Given the description of an element on the screen output the (x, y) to click on. 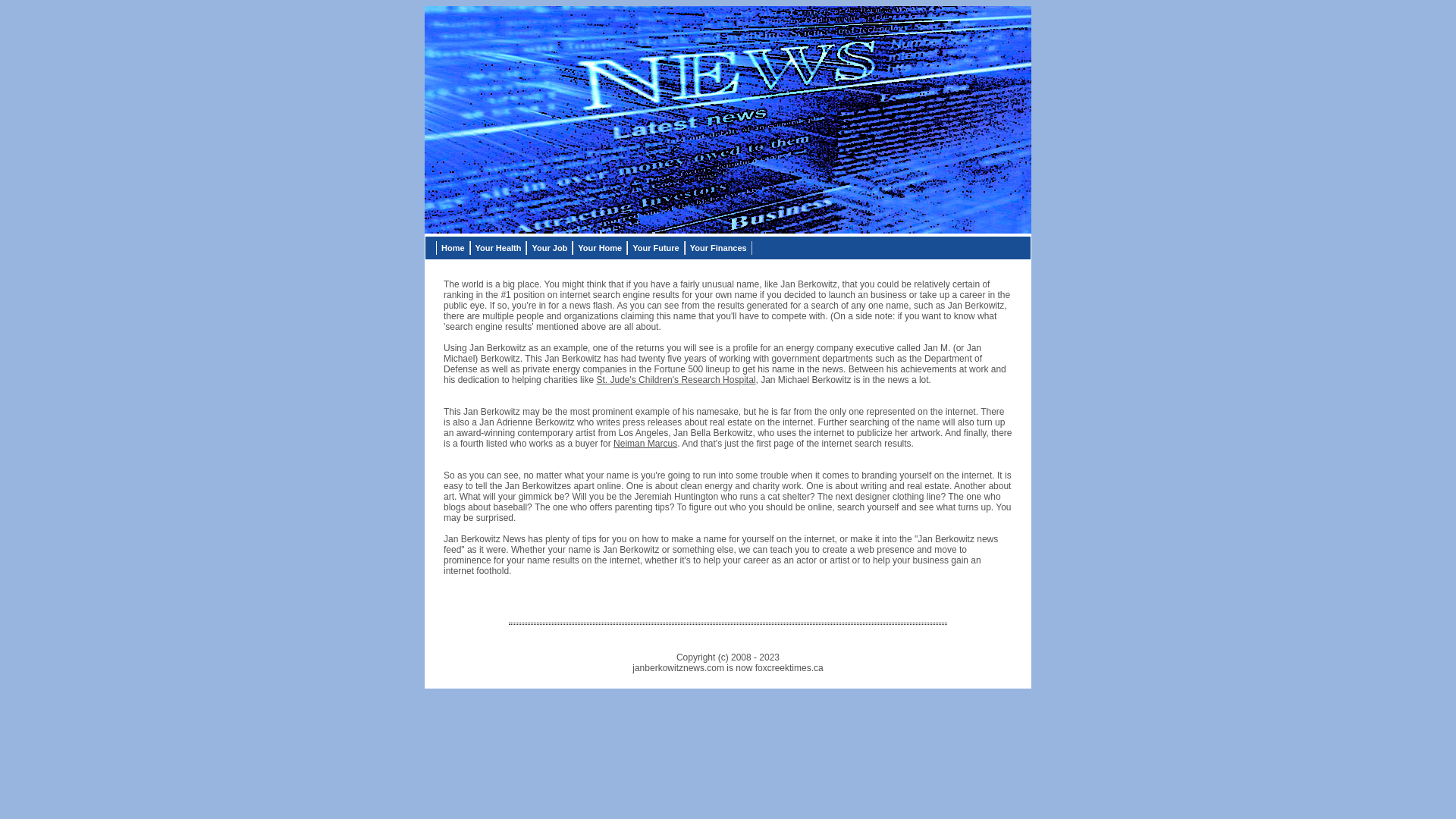
St. Jude's Children's Research Hospital Element type: text (675, 379)
Your Home Element type: text (599, 247)
Neiman Marcus Element type: text (645, 443)
Home Element type: text (453, 247)
Your Future Element type: text (655, 247)
Your Finances Element type: text (718, 247)
Your Health Element type: text (498, 247)
Your Job Element type: text (549, 247)
